Given the description of an element on the screen output the (x, y) to click on. 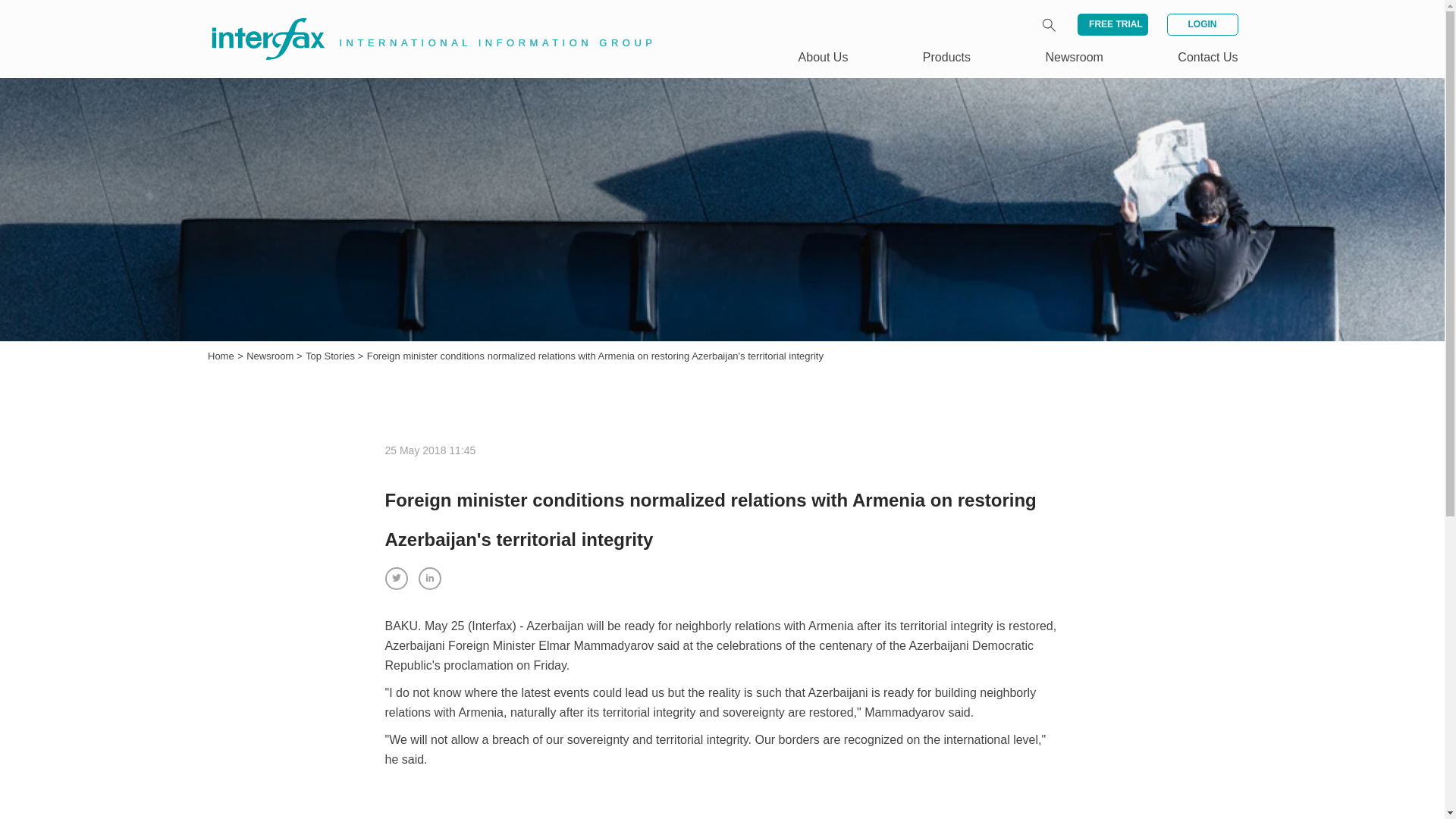
Products (947, 56)
Home (221, 355)
Newsroom (271, 355)
Newsroom (271, 355)
INTERNATIONAL INFORMATION GROUP (421, 20)
LOGIN (1201, 24)
Contact Us (1207, 56)
Newsroom (1073, 56)
About Us (822, 56)
FREE TRIAL (1112, 24)
